Given the description of an element on the screen output the (x, y) to click on. 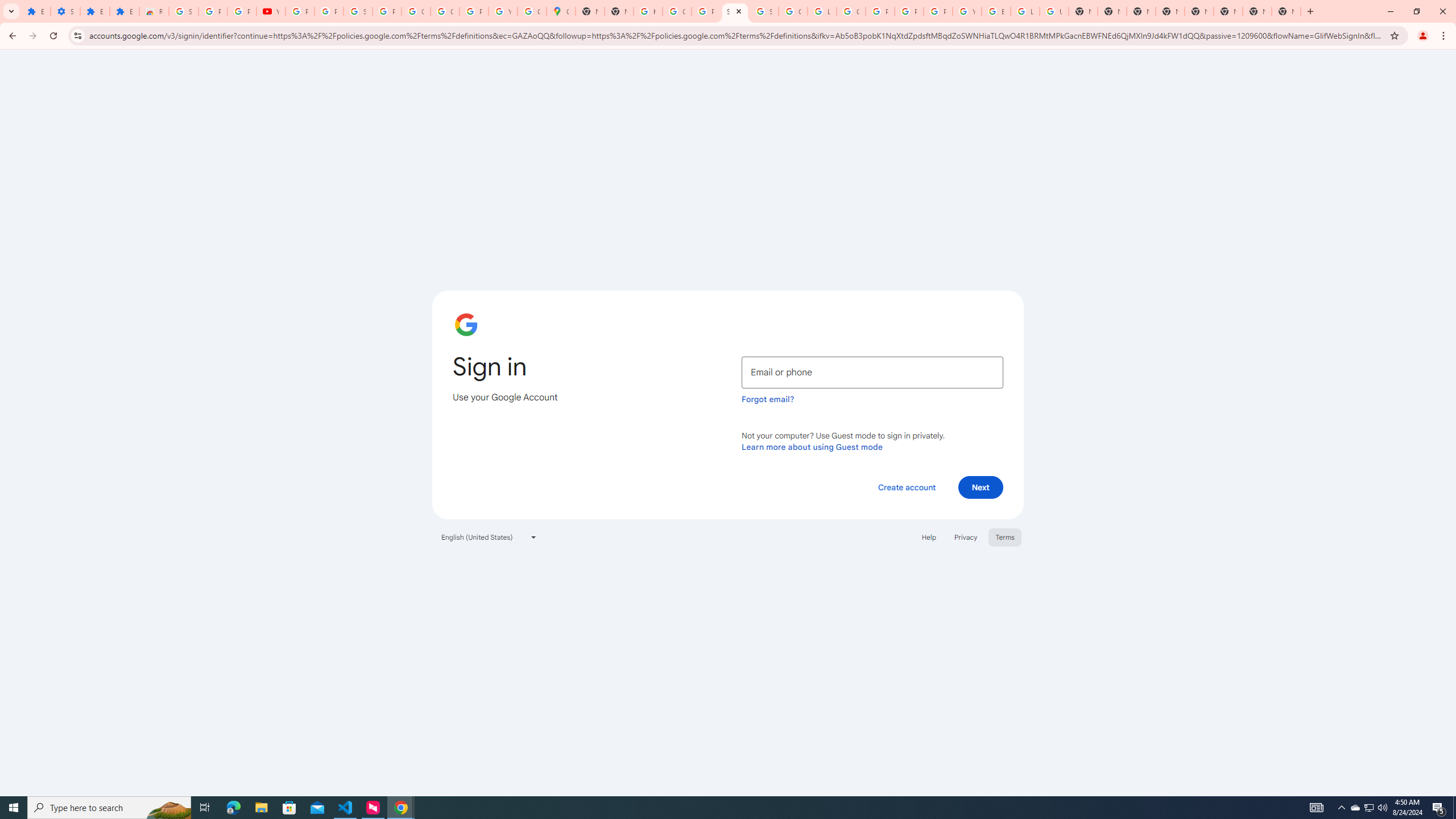
Extensions (95, 11)
Reviews: Helix Fruit Jump Arcade Game (153, 11)
Forgot email? (767, 398)
Settings (65, 11)
YouTube (271, 11)
